Given the description of an element on the screen output the (x, y) to click on. 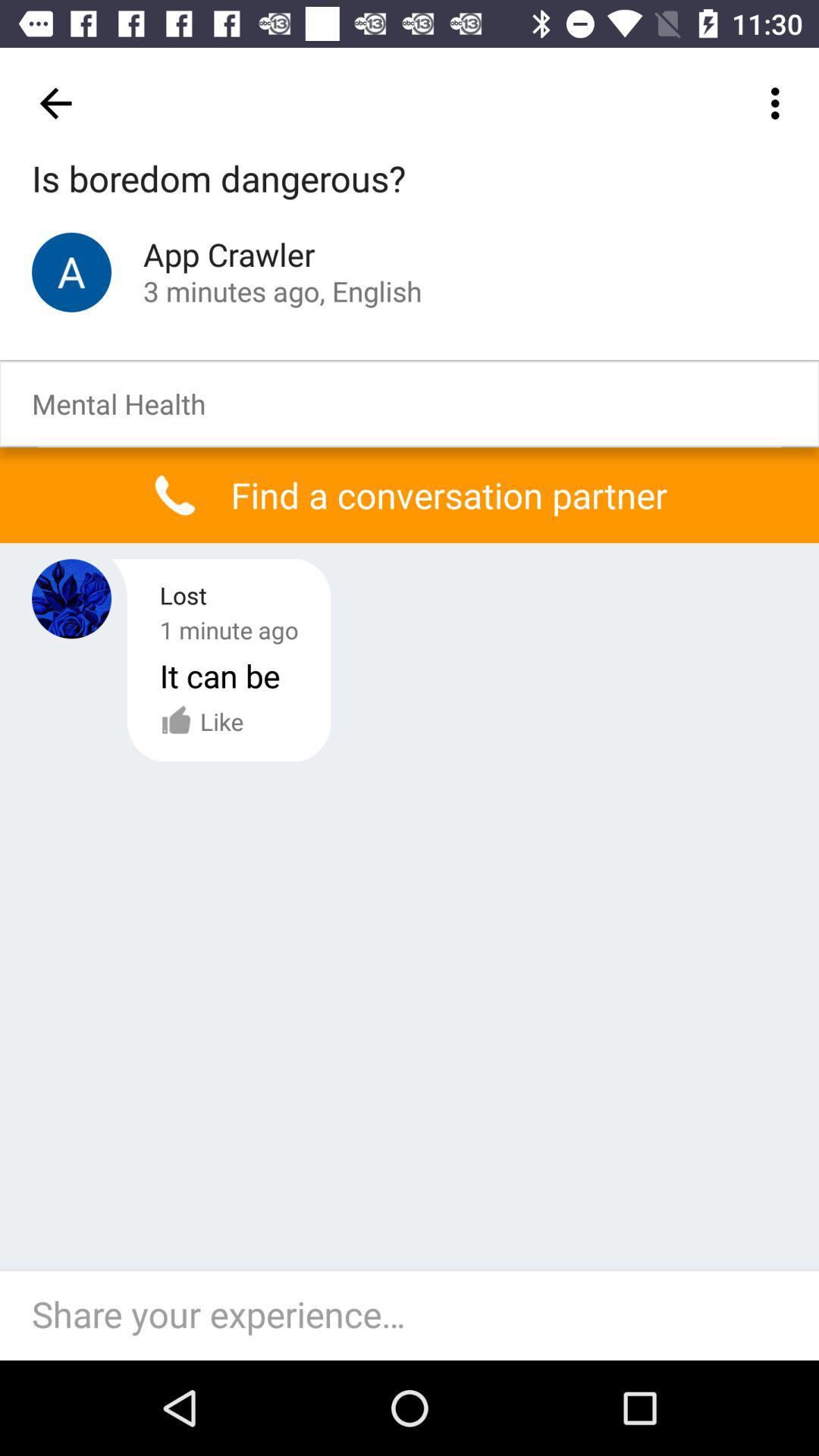
tap the item below 1 minute ago (201, 721)
